Given the description of an element on the screen output the (x, y) to click on. 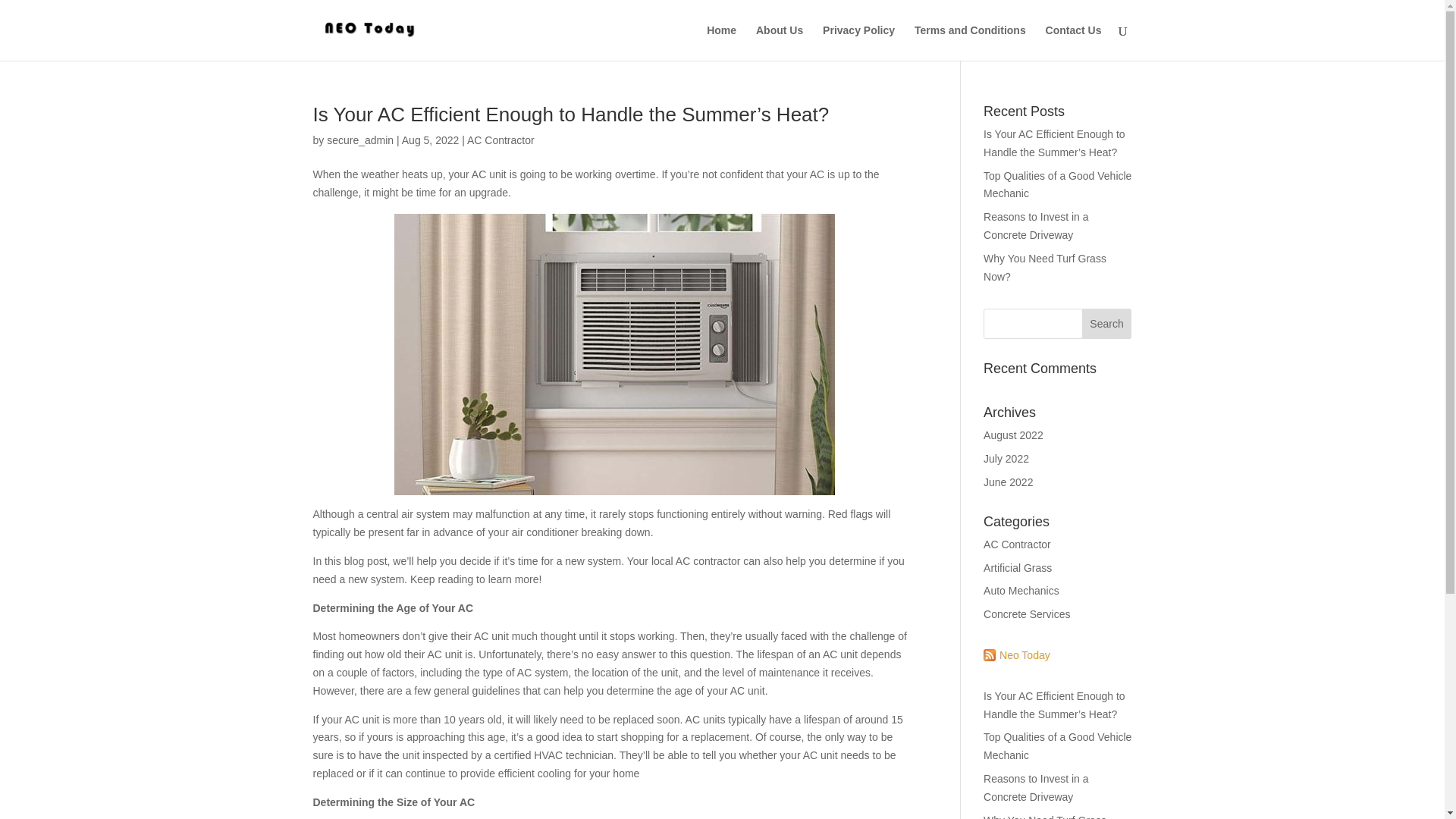
Neo Today (1016, 654)
Why You Need Turf Grass Now? (1045, 816)
AC Contractor (1017, 544)
June 2022 (1008, 481)
Auto Mechanics (1021, 590)
August 2022 (1013, 435)
Artificial Grass (1017, 567)
Terms and Conditions (970, 42)
Top Qualities of a Good Vehicle Mechanic (1057, 184)
Contact Us (1073, 42)
Why You Need Turf Grass Now? (1045, 267)
July 2022 (1006, 458)
About Us (779, 42)
Reasons to Invest in a Concrete Driveway (1036, 225)
AC Contractor (500, 140)
